Given the description of an element on the screen output the (x, y) to click on. 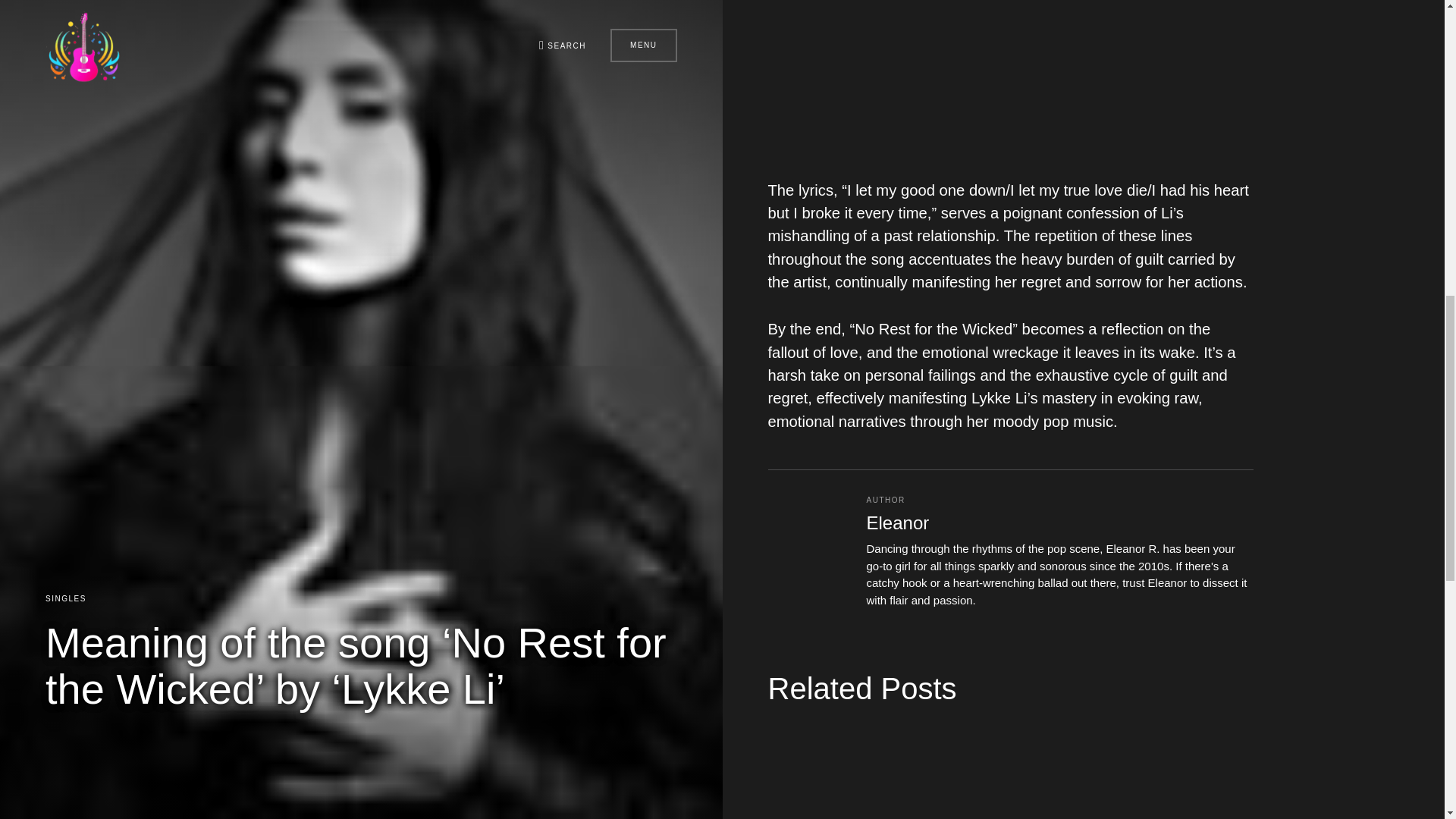
Eleanor (897, 522)
